Given the description of an element on the screen output the (x, y) to click on. 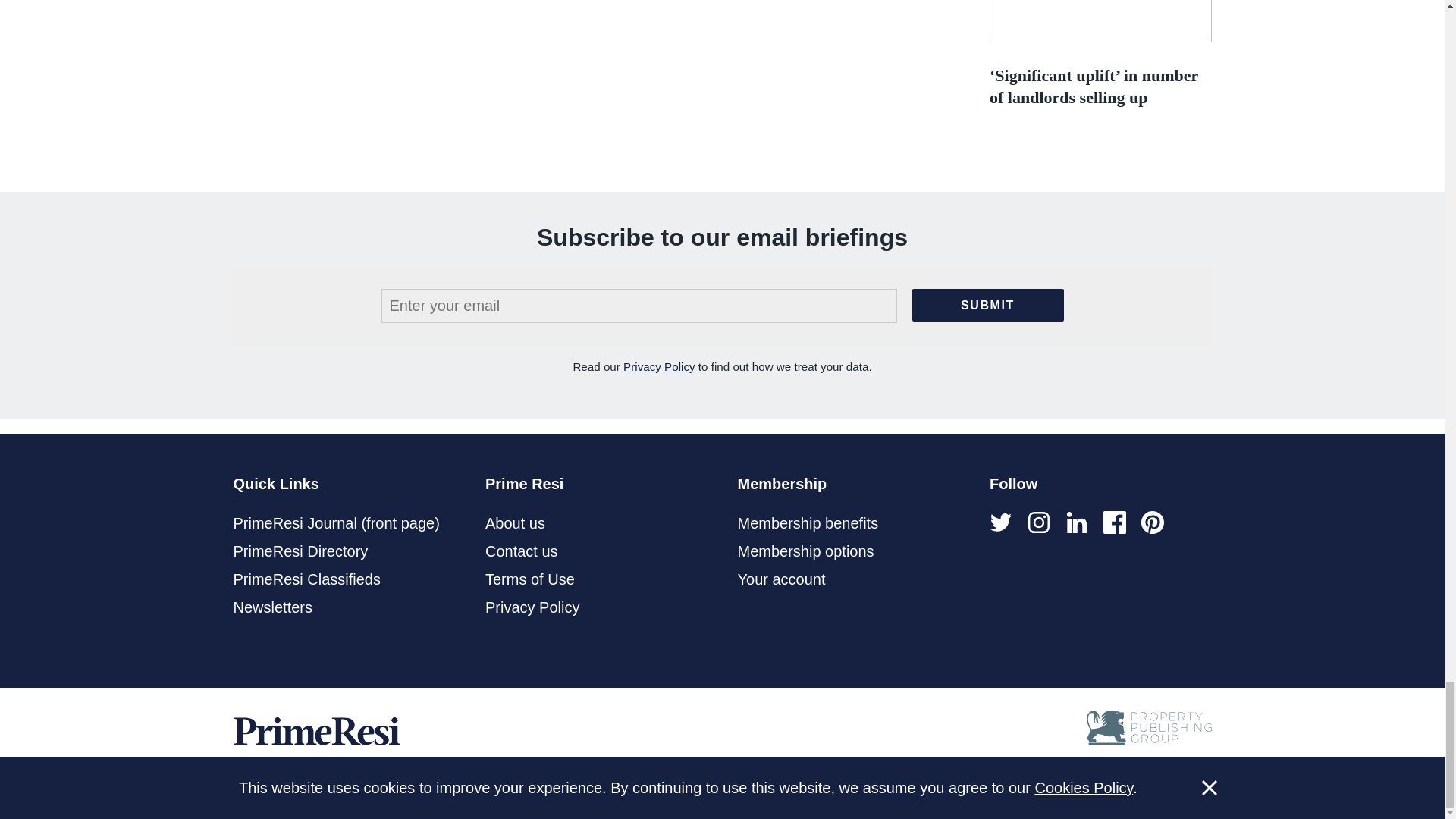
Submit (986, 305)
